Given the description of an element on the screen output the (x, y) to click on. 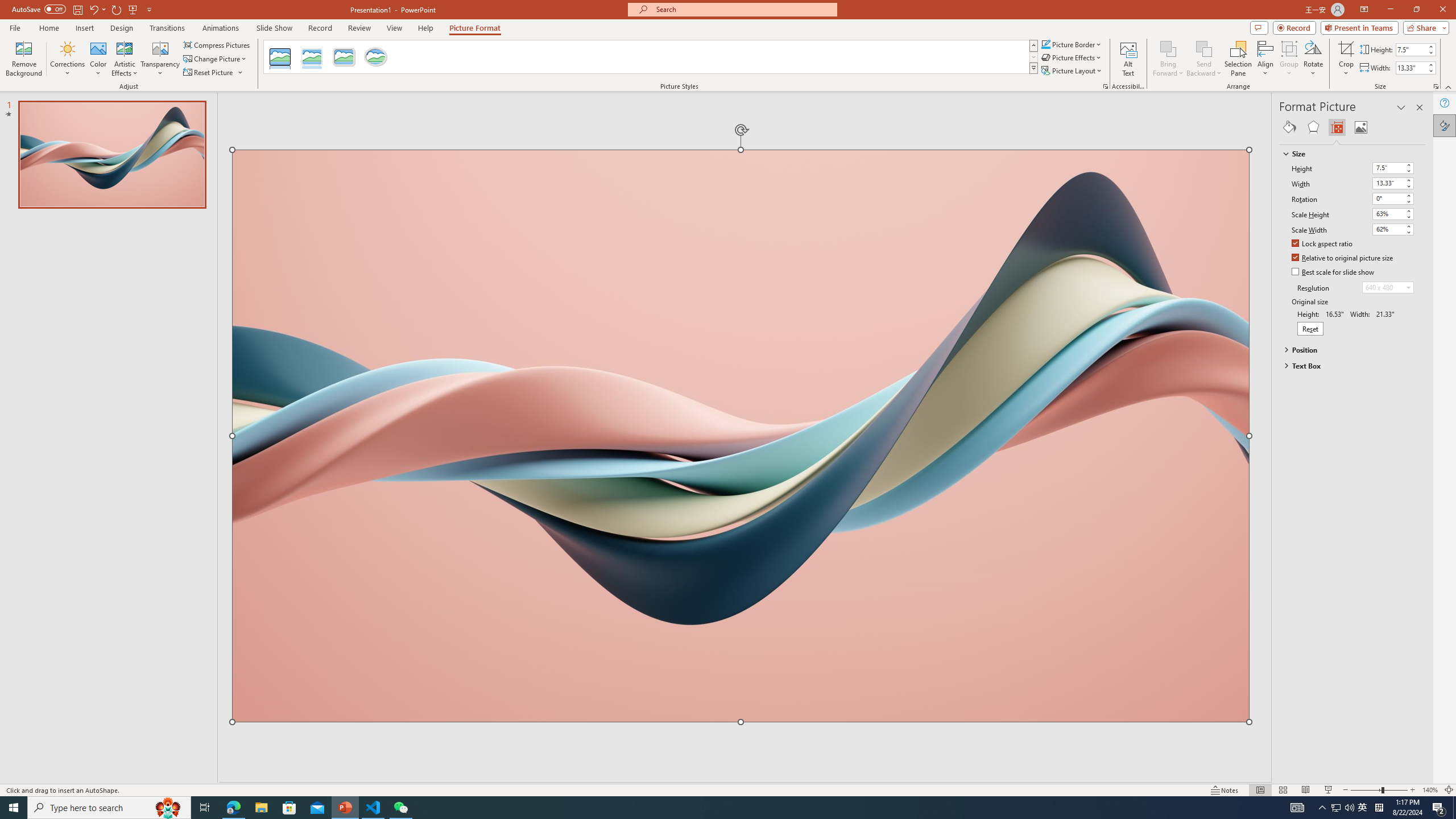
Height (1393, 167)
Artistic Effects (124, 58)
Width (1388, 182)
Scale Width (1388, 229)
Reset Picture (214, 72)
Crop (1345, 58)
Picture (1361, 126)
Class: NetUIScrollBar (1420, 460)
Bring Forward (1168, 48)
